Given the description of an element on the screen output the (x, y) to click on. 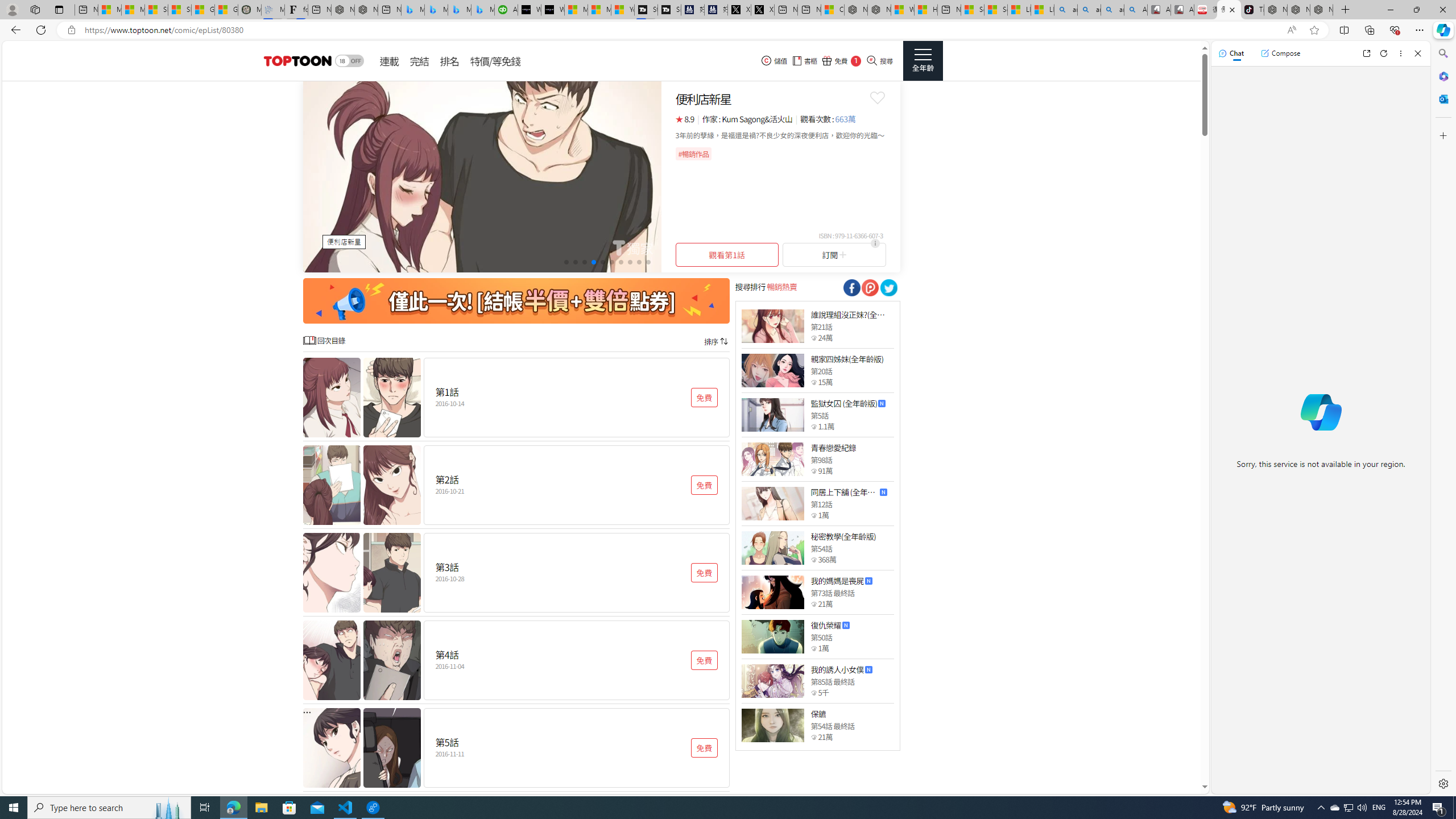
Go to slide 9 (639, 261)
Class: thumb_img (772, 725)
Collections (1369, 29)
Browser essentials (1394, 29)
amazon - Search Images (1112, 9)
